Given the description of an element on the screen output the (x, y) to click on. 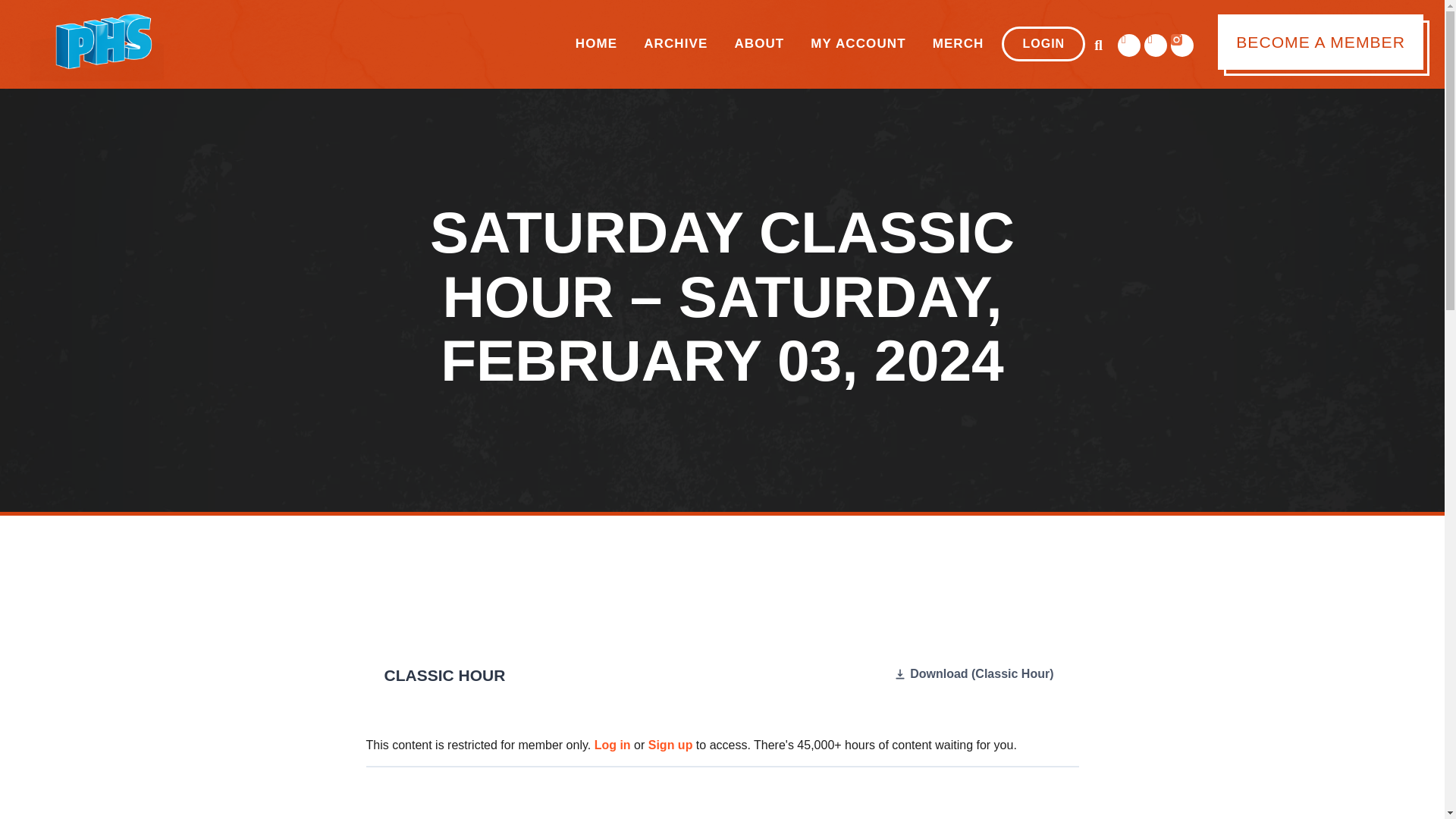
MY ACCOUNT (857, 43)
LOGIN (1042, 43)
ARCHIVE (675, 43)
Sign up (670, 744)
ABOUT (758, 43)
HOME (596, 43)
Log in (612, 744)
MERCH (958, 43)
BECOME A MEMBER (1320, 41)
